Given the description of an element on the screen output the (x, y) to click on. 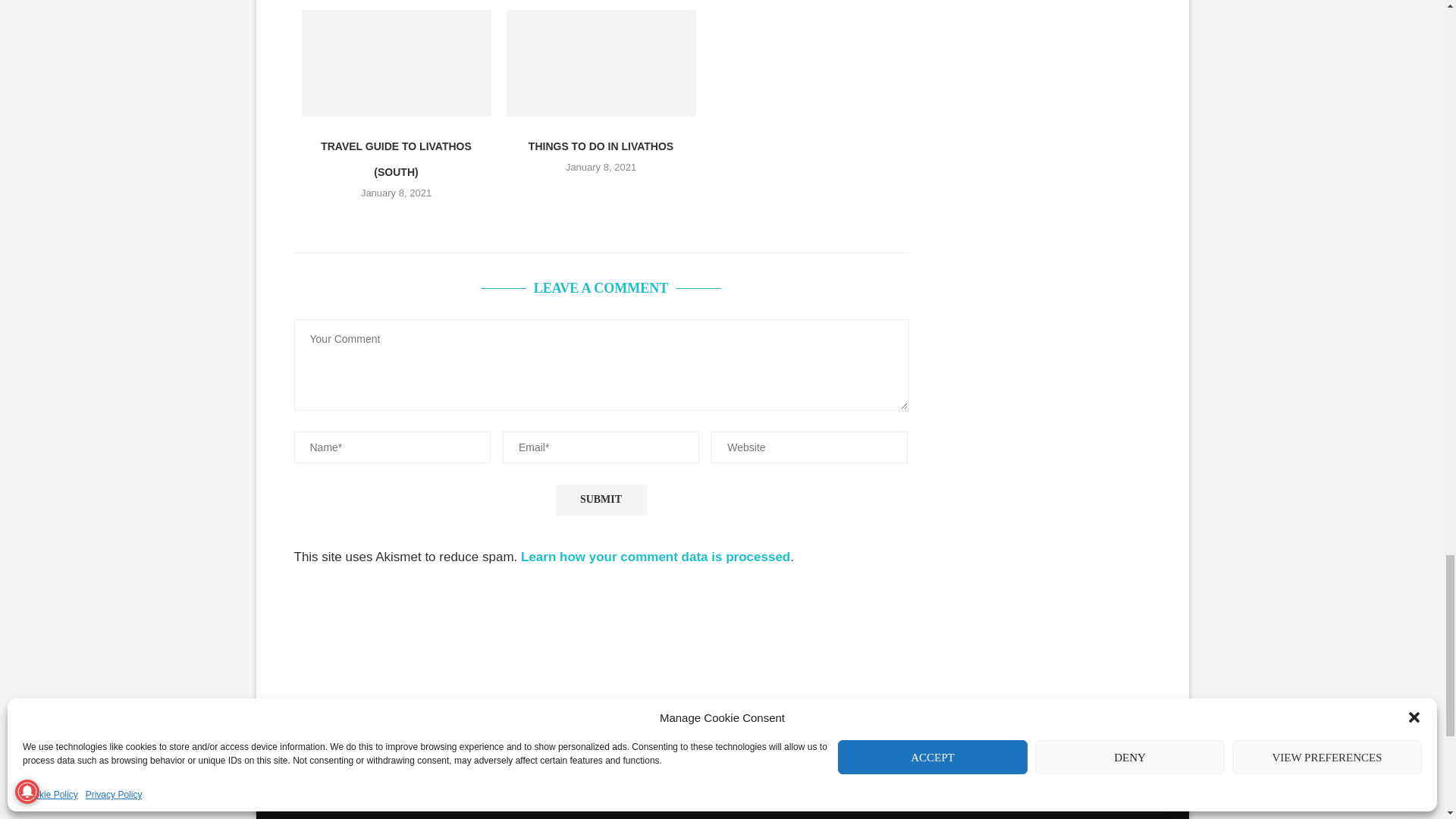
Submit (600, 499)
Things to do in Livathos (600, 63)
